Given the description of an element on the screen output the (x, y) to click on. 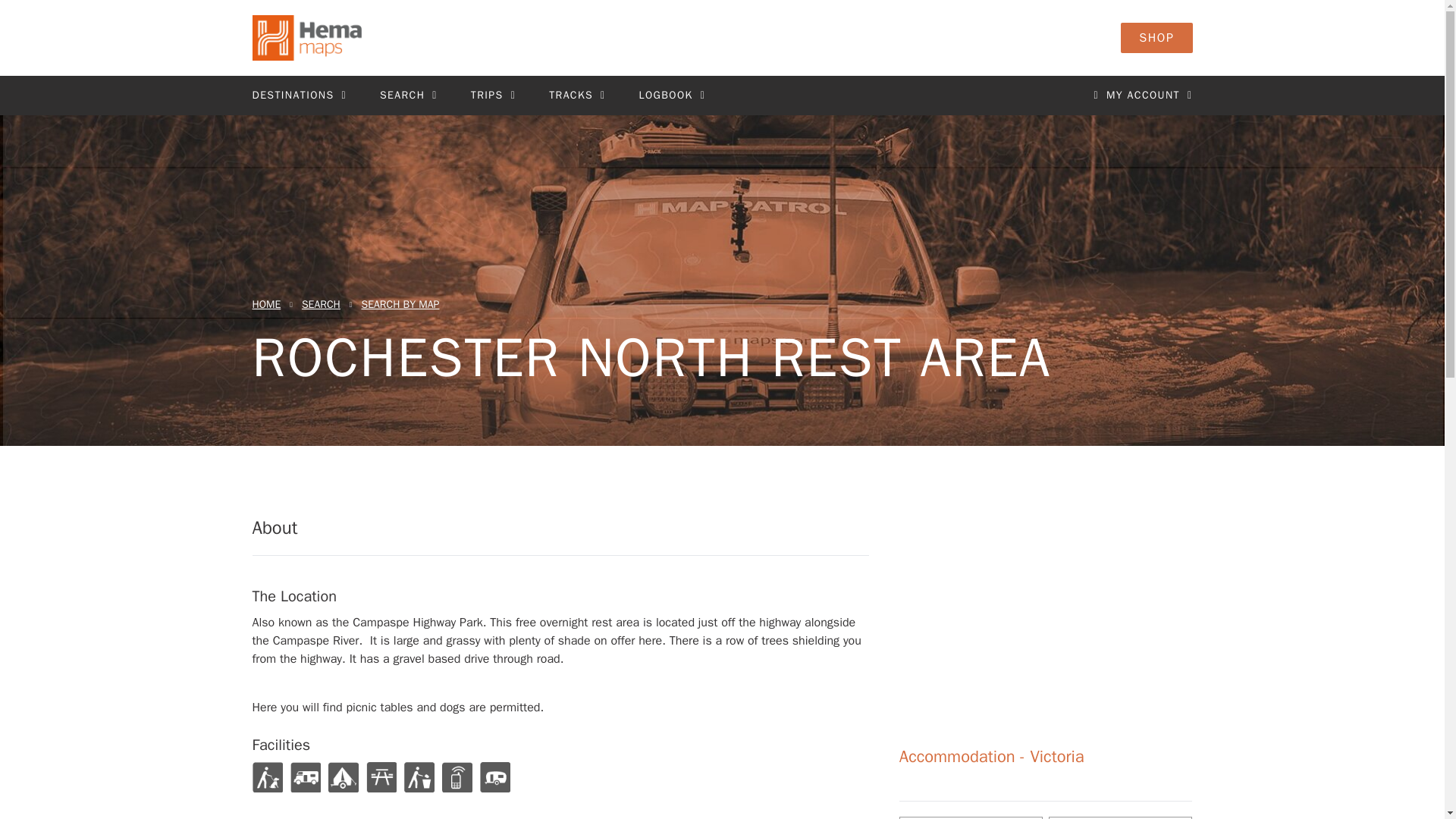
MY ACCOUNT (1142, 95)
Motorhome Sites (304, 777)
Camper Trailer Sites (342, 777)
LOGBOOK (672, 95)
TRACKS (576, 95)
TRIPS (492, 95)
SHOP (1156, 37)
Caravan Sites (494, 777)
SEARCH (409, 95)
Pets Allowed (266, 777)
